Given the description of an element on the screen output the (x, y) to click on. 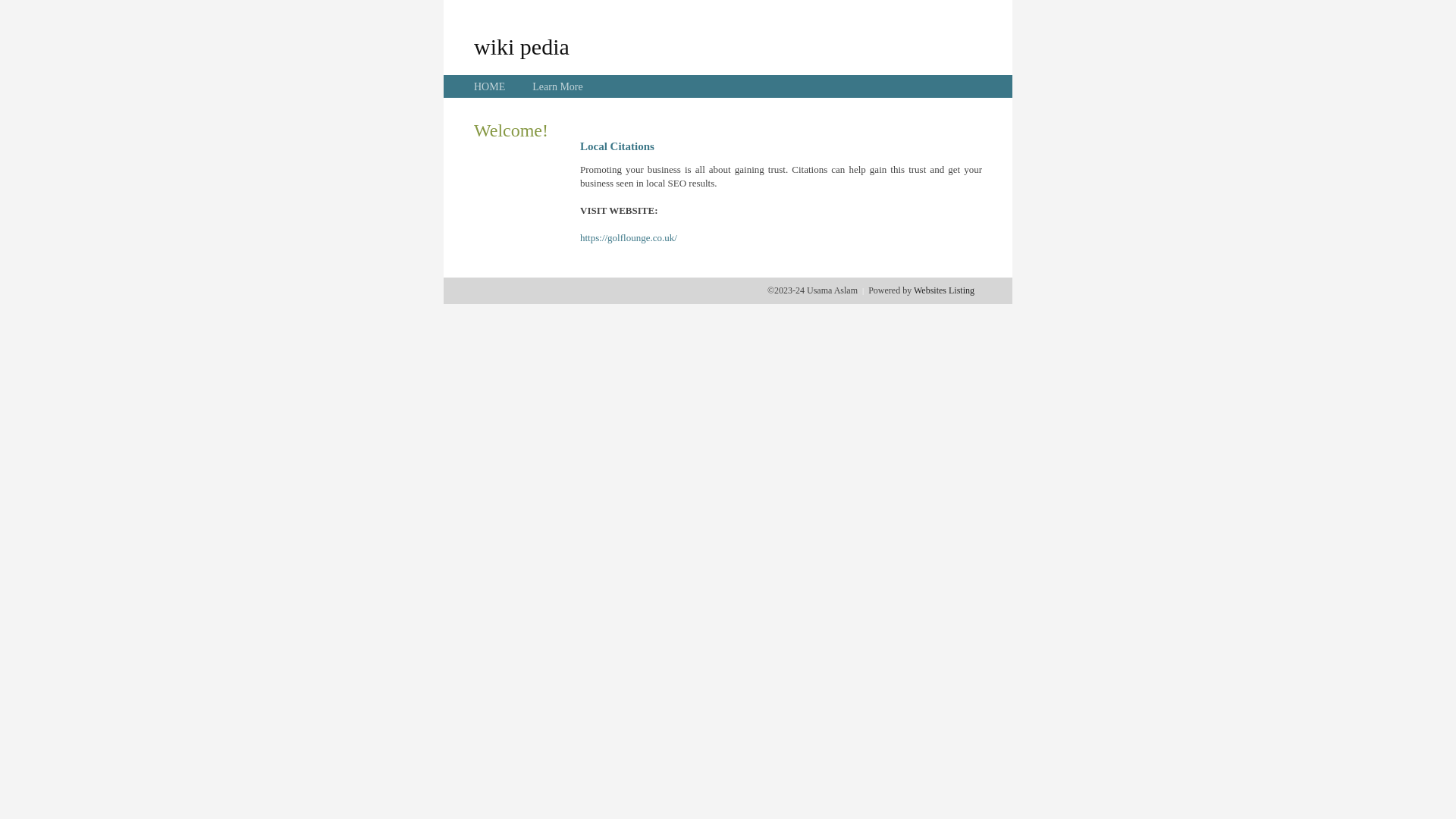
HOME Element type: text (489, 86)
https://golflounge.co.uk/ Element type: text (628, 237)
Learn More Element type: text (557, 86)
wiki pedia Element type: text (521, 46)
Websites Listing Element type: text (943, 290)
